Given the description of an element on the screen output the (x, y) to click on. 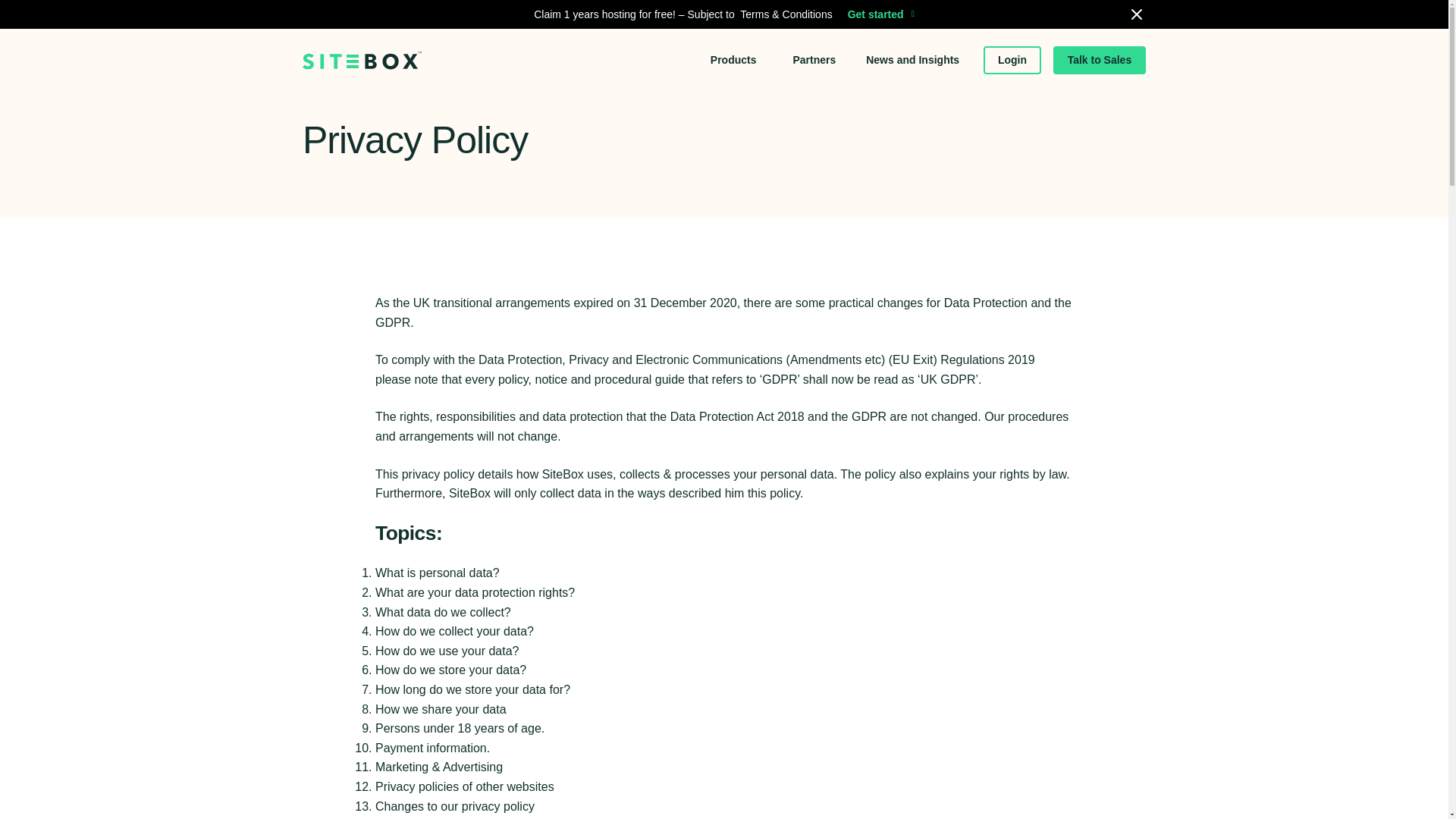
Partners (813, 55)
Login (1012, 58)
Talk to Sales (1098, 59)
Get started (880, 1)
Products (735, 46)
News and Insights (912, 57)
